Given the description of an element on the screen output the (x, y) to click on. 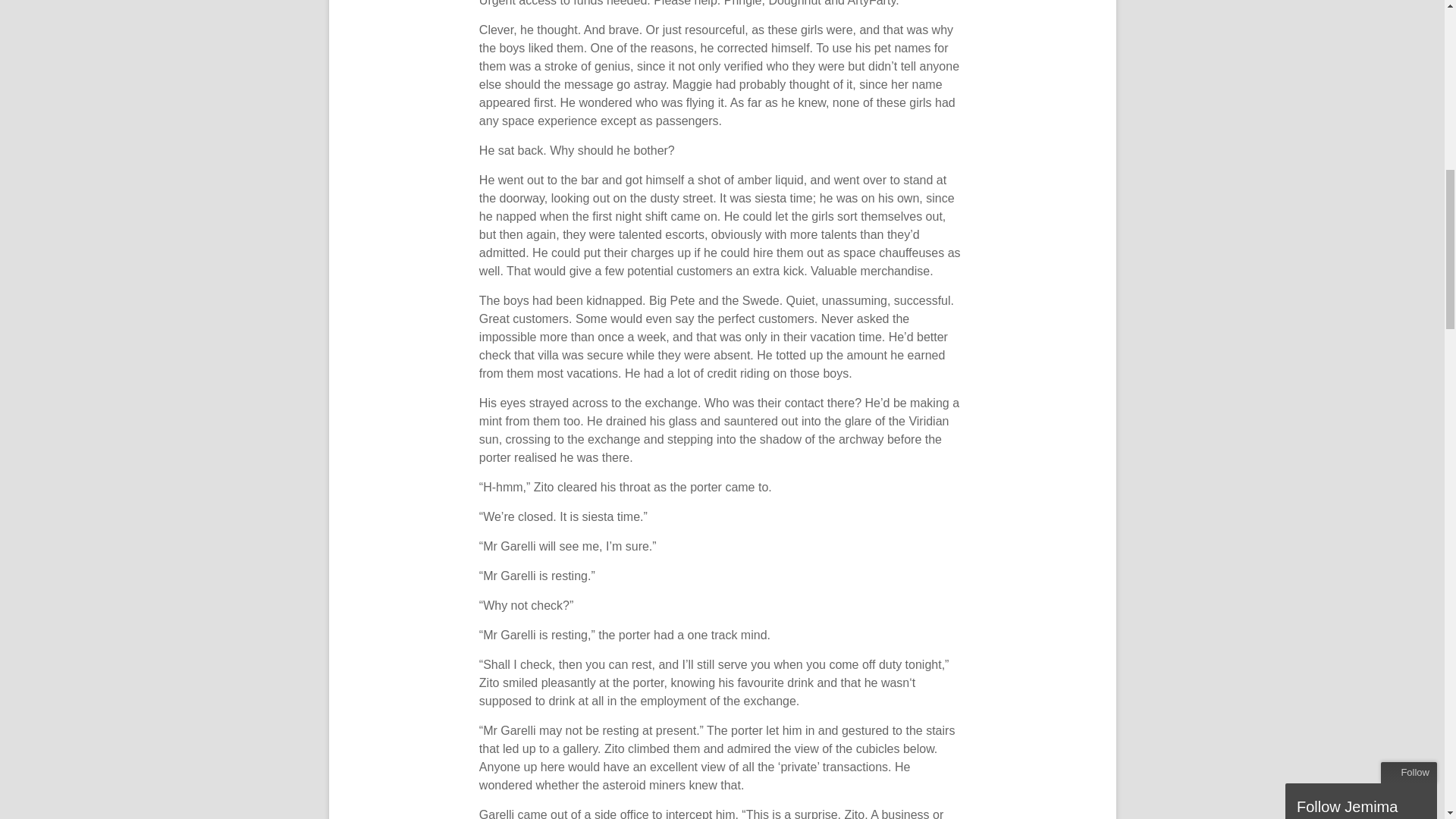
Sign me up! (1345, 171)
Email Address (1358, 119)
